Given the description of an element on the screen output the (x, y) to click on. 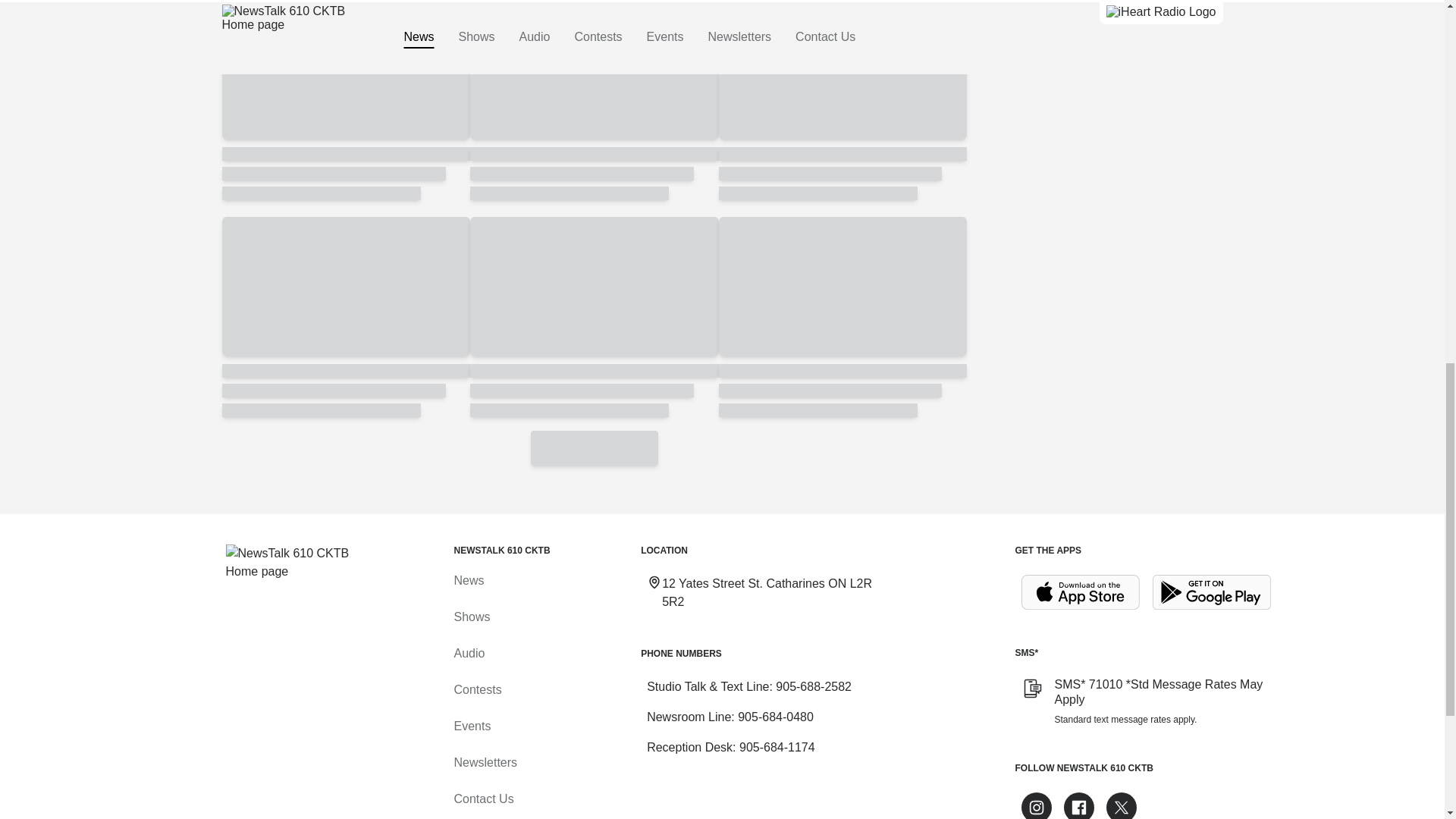
Download on the App Store (1080, 592)
Contests (476, 689)
News (467, 580)
Audio (468, 653)
Get it on Google Play (1212, 592)
905-684-1174 (777, 747)
Newsletters (484, 762)
Events (471, 725)
Shows (470, 616)
Contact Us (482, 798)
